Given the description of an element on the screen output the (x, y) to click on. 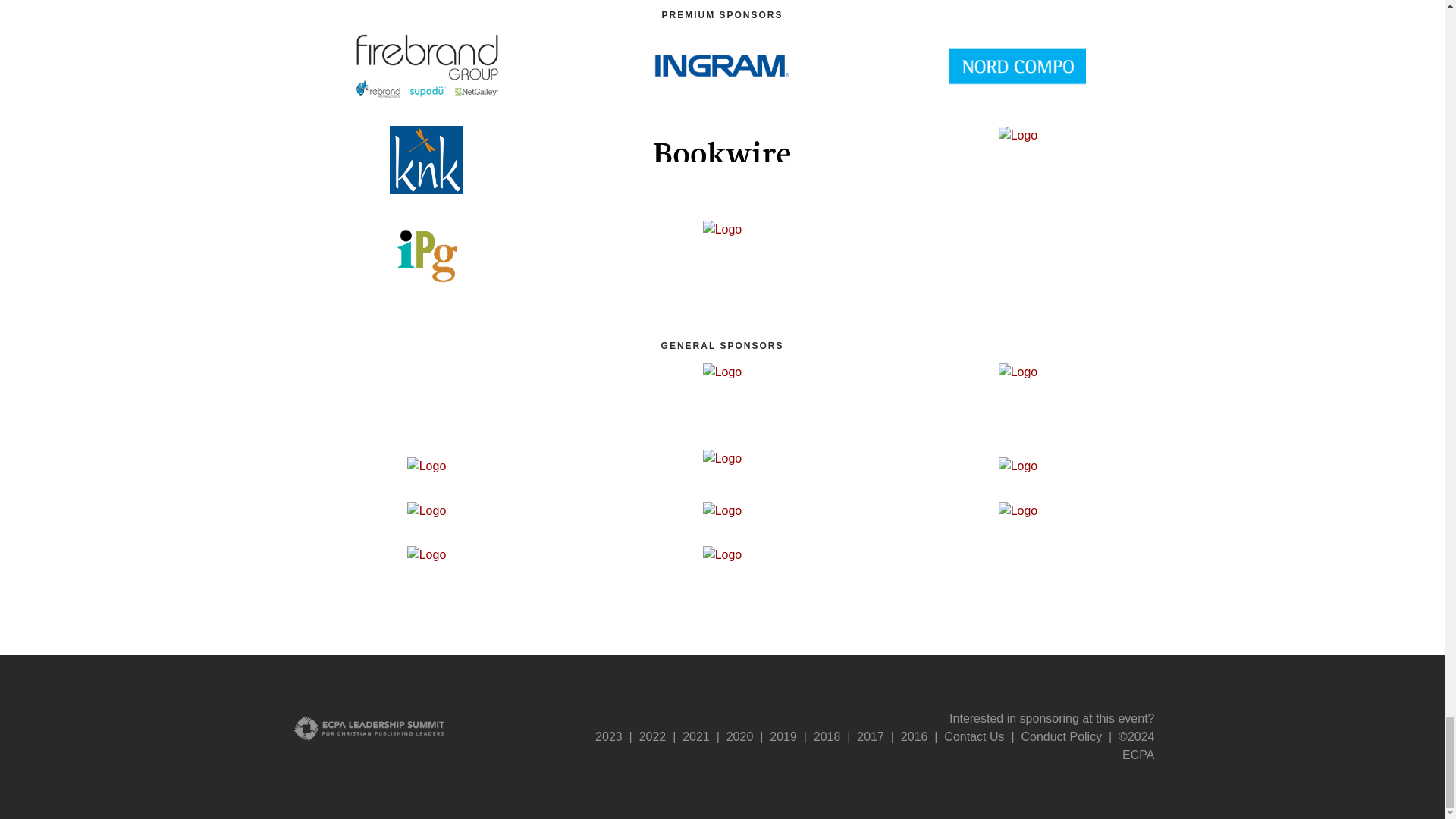
2017 (870, 736)
2022 (652, 736)
2020 (740, 736)
2016 (914, 736)
Interested in sponsoring at this event? (1051, 717)
2019 (783, 736)
2023 (609, 736)
2021 (696, 736)
2018 (827, 736)
Contact Us (973, 736)
